Given the description of an element on the screen output the (x, y) to click on. 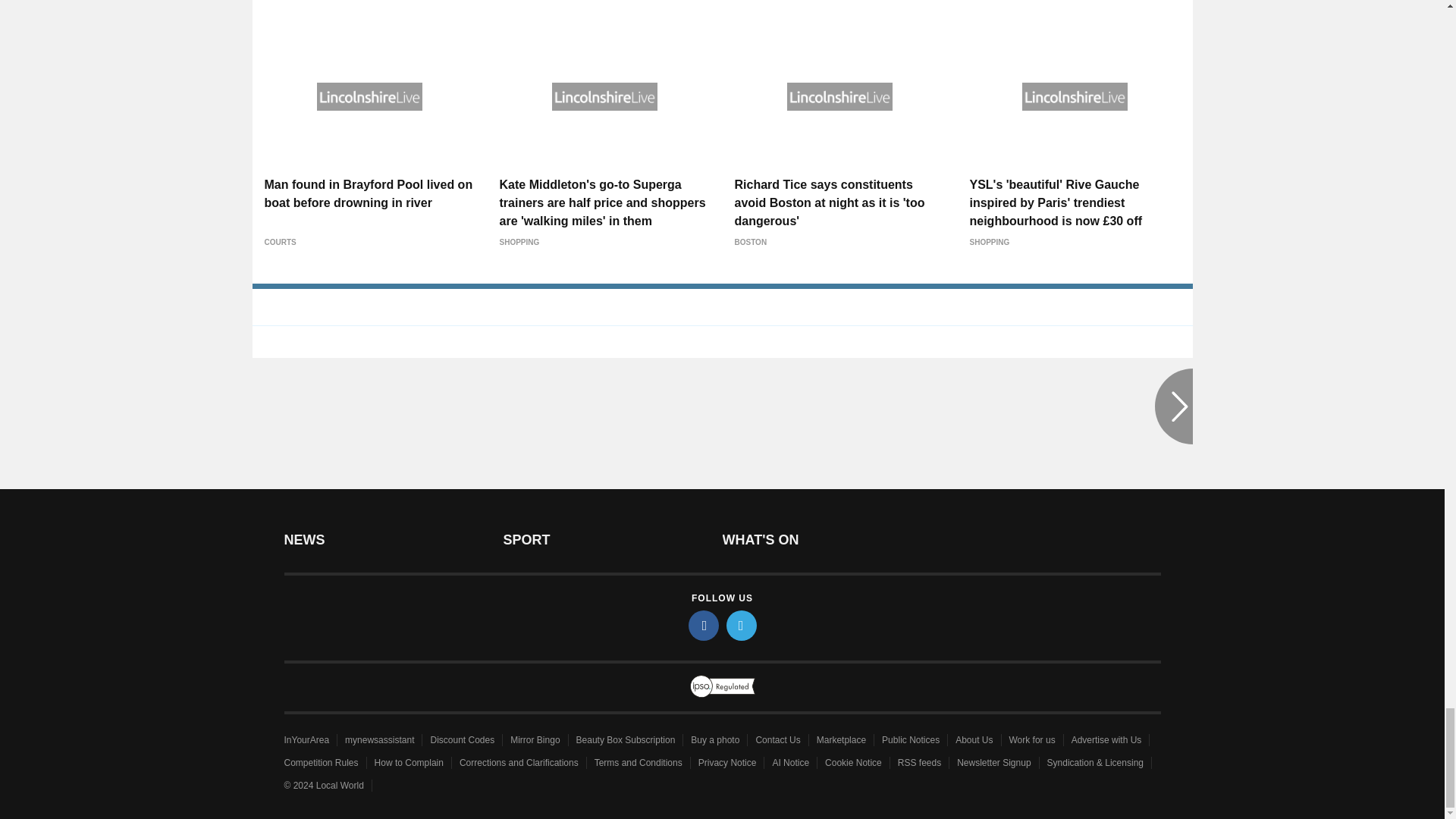
twitter (741, 625)
facebook (703, 625)
